Given the description of an element on the screen output the (x, y) to click on. 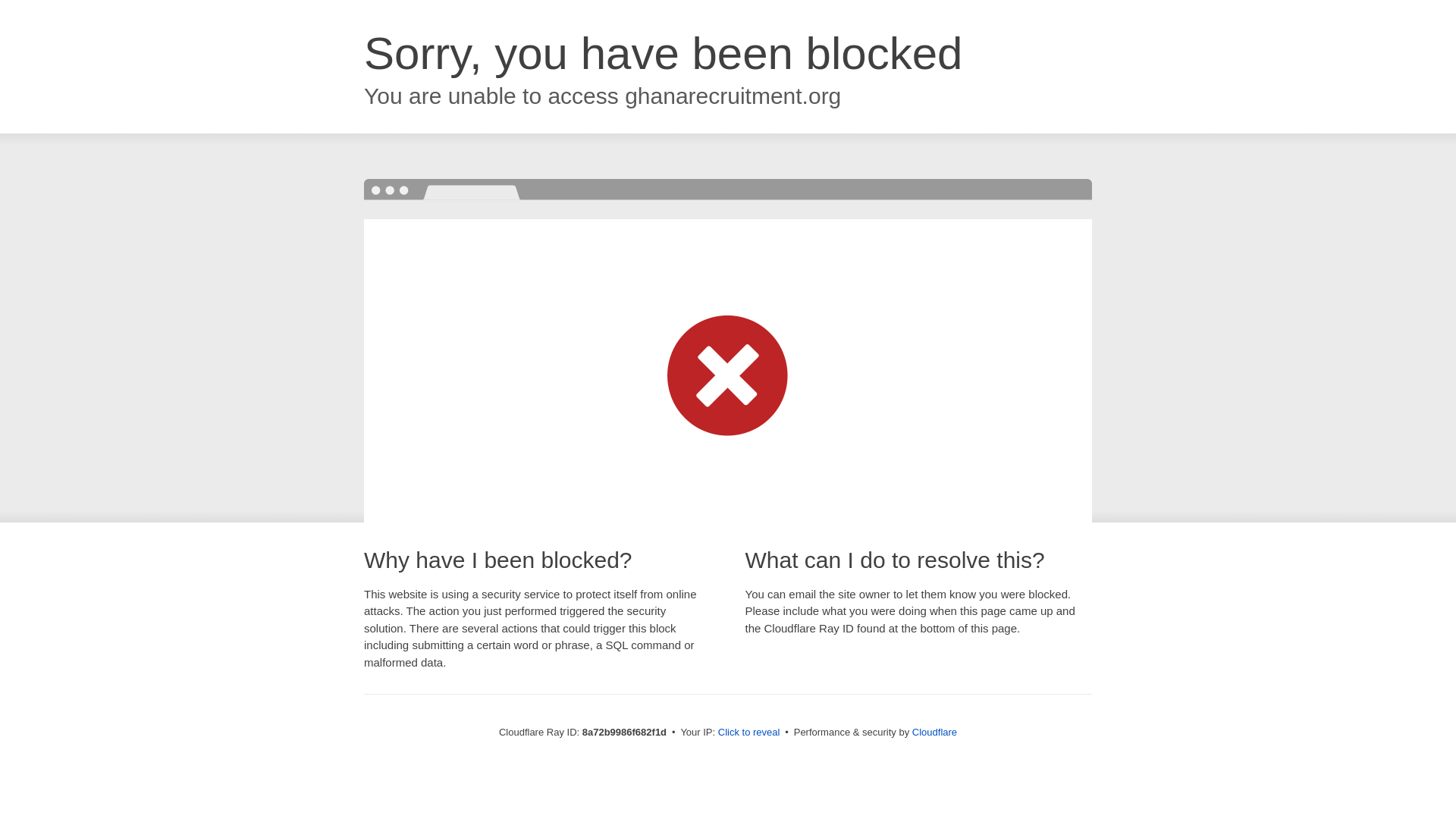
Click to reveal (748, 732)
Cloudflare (934, 731)
